Given the description of an element on the screen output the (x, y) to click on. 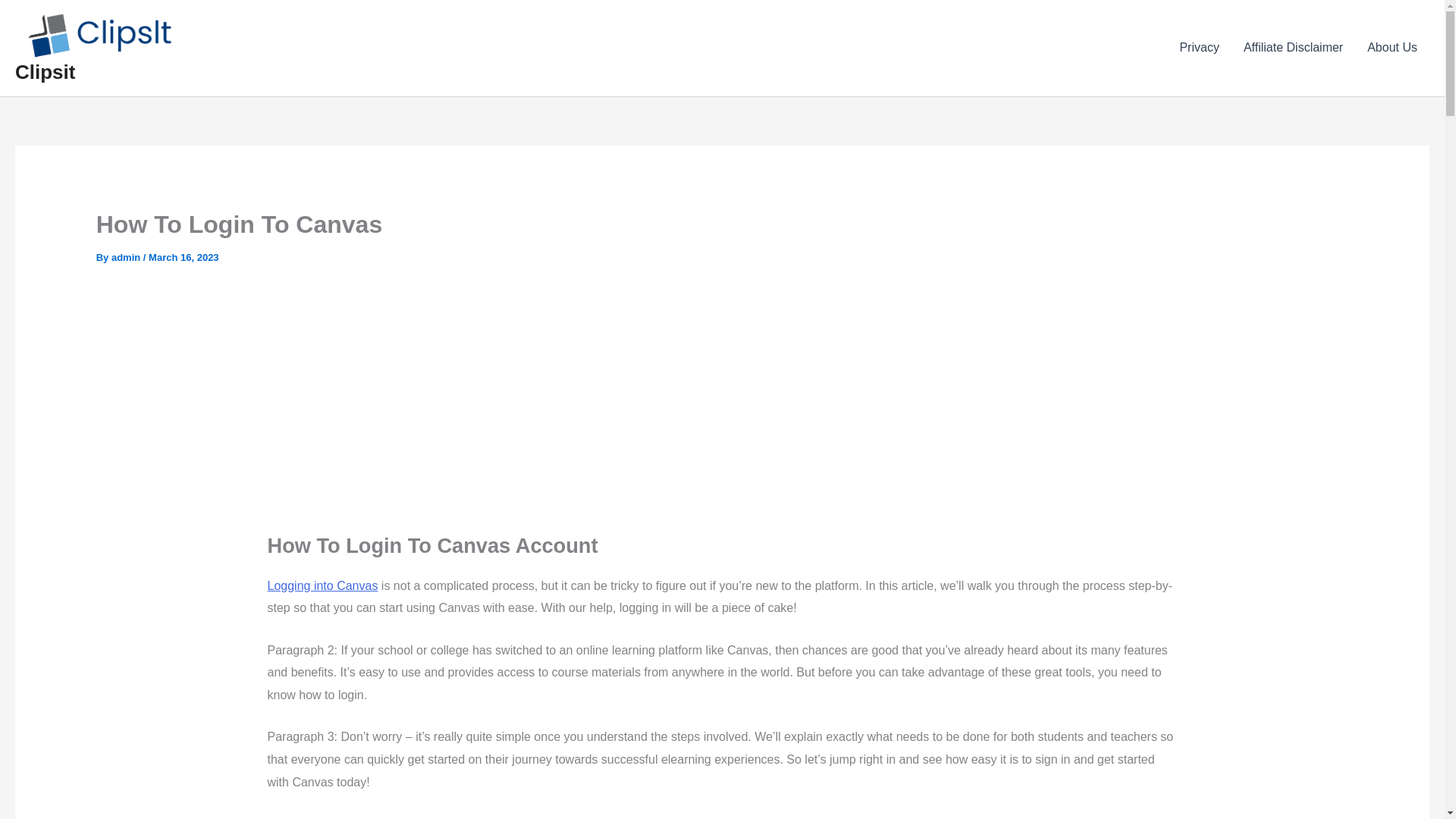
Clipsit (44, 71)
Affiliate Disclaimer (1293, 47)
Logging into Canvas (321, 585)
Privacy (1198, 47)
About Us (1392, 47)
admin (127, 256)
View all posts by admin (127, 256)
